Given the description of an element on the screen output the (x, y) to click on. 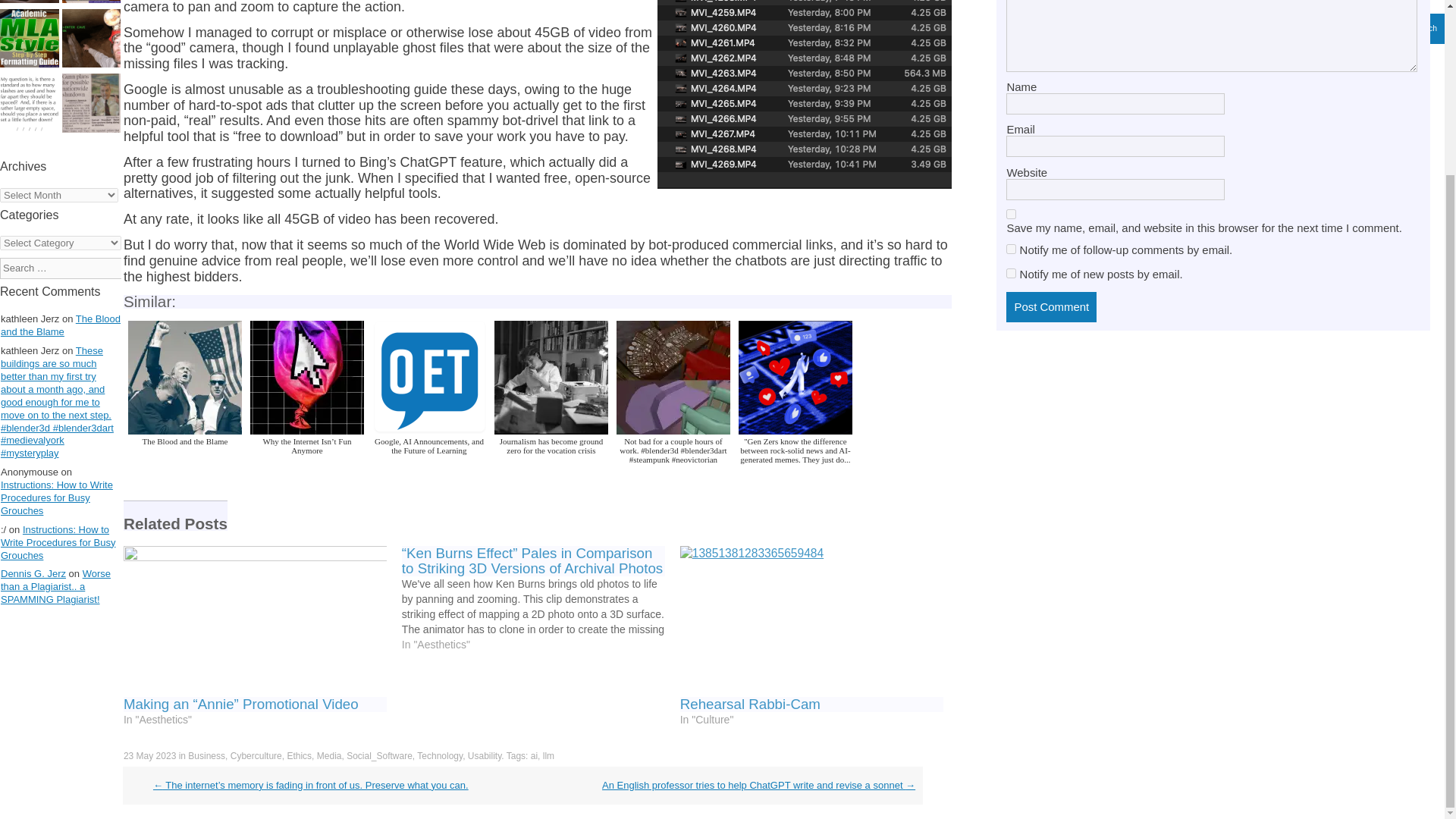
Post Comment (1051, 306)
Rehearsal Rabbi-Cam (750, 703)
subscribe (1011, 273)
subscribe (1011, 248)
Quotations: Using them Effectively in Journalism (91, 2)
Rehearsal Rabbi-Cam (811, 621)
yes (1011, 214)
